Given the description of an element on the screen output the (x, y) to click on. 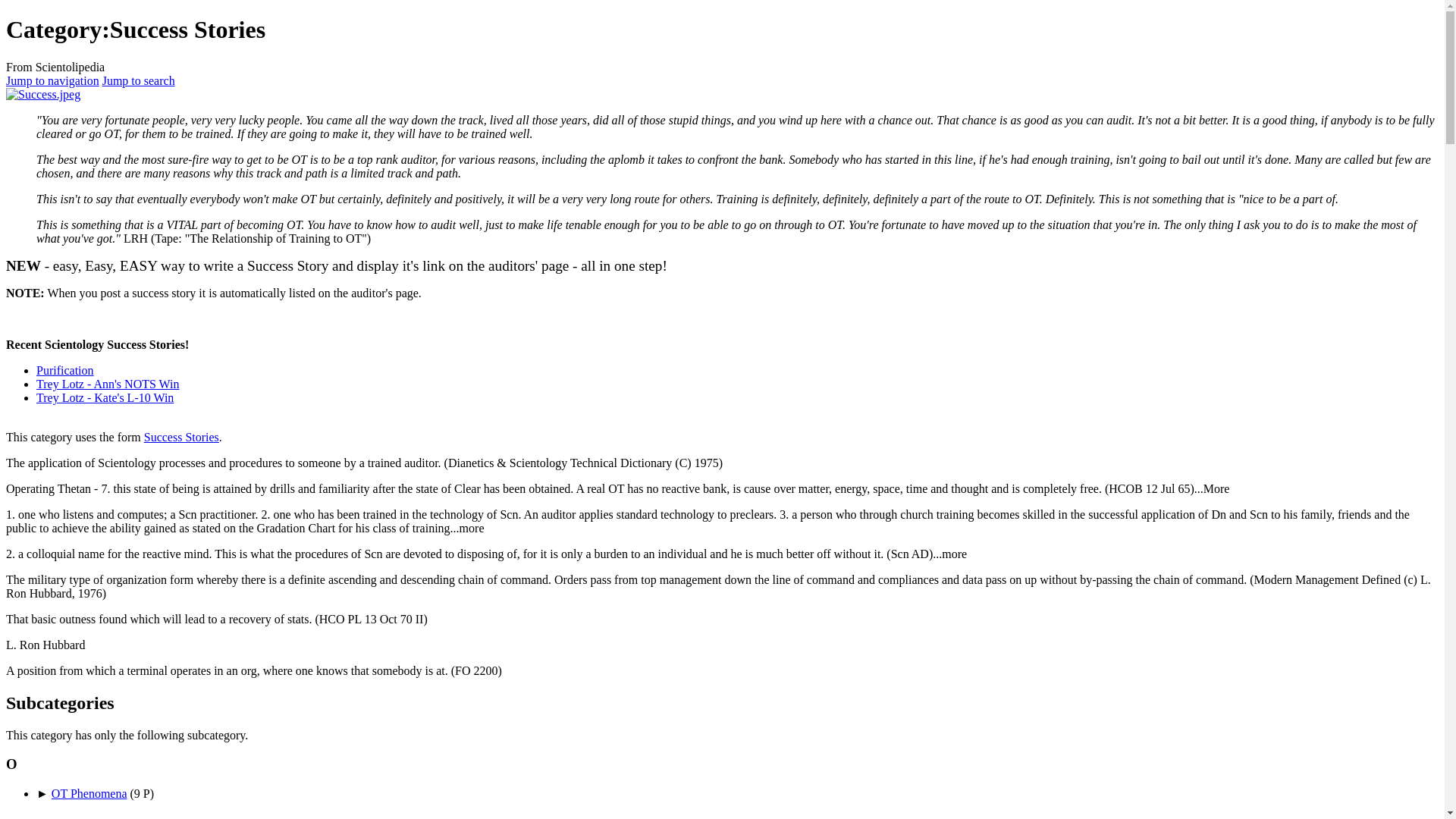
Jump to search (137, 80)
Category:OT Phenomena (89, 793)
Trey Lotz - Kate's L-10 Win (104, 397)
Trey Lotz - Ann's NOTS Win (107, 383)
Success Stories (181, 436)
Jump to navigation (52, 80)
OT Phenomena (89, 793)
Contains 0 subcategories, 9 pages, and 0 files (142, 793)
Trey Lotz - Kate's L-10 Win (104, 397)
Purification (65, 369)
